Given the description of an element on the screen output the (x, y) to click on. 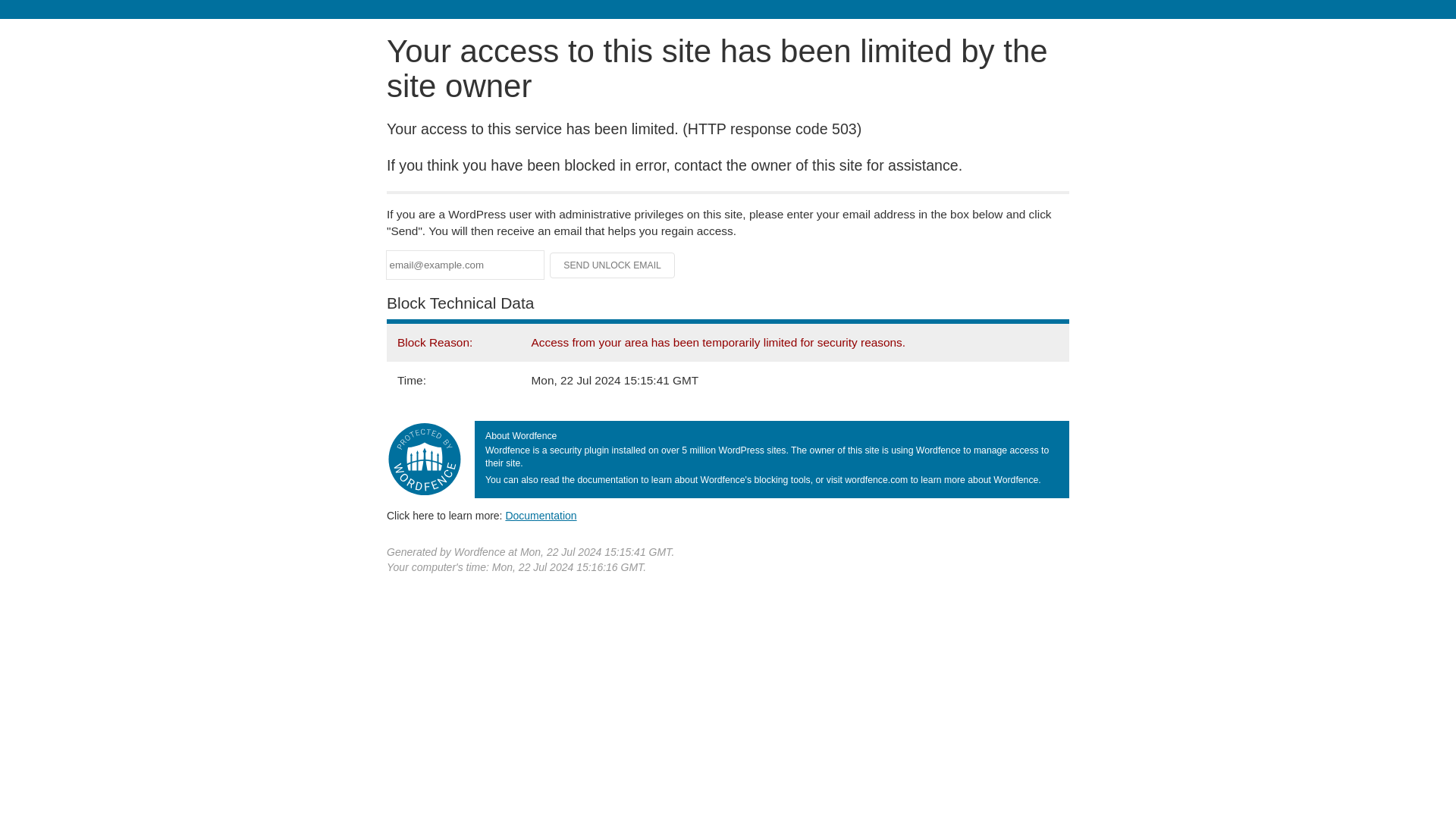
Send Unlock Email (612, 265)
Documentation (540, 515)
Send Unlock Email (612, 265)
